Given the description of an element on the screen output the (x, y) to click on. 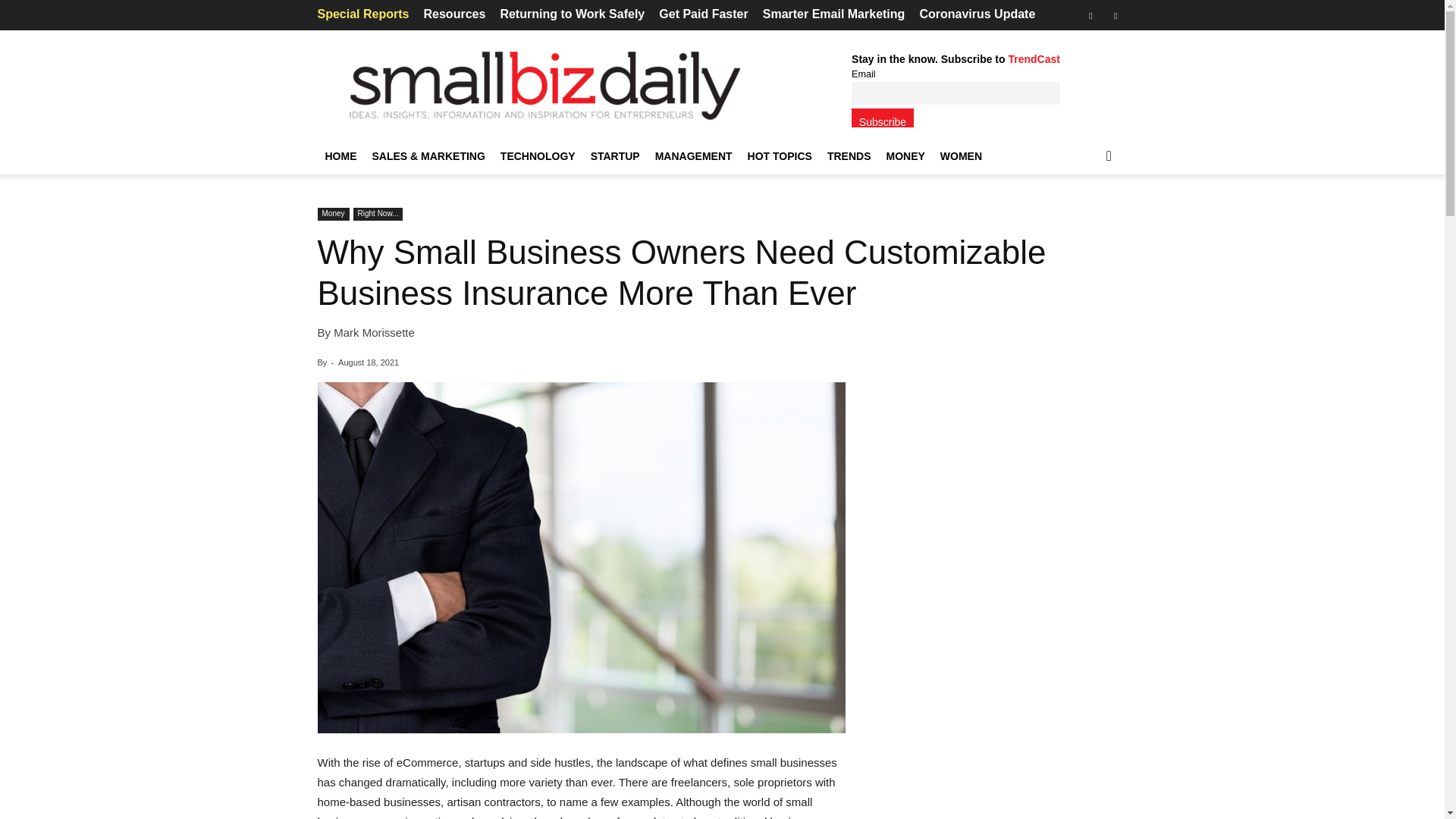
Subscribe (882, 117)
TECHNOLOGY (538, 156)
HOME (340, 156)
Facebook (1090, 14)
STARTUP (615, 156)
Returning to Work Safely (572, 13)
RSS (1114, 14)
Get Paid Faster (703, 13)
Special Reports (363, 13)
Resources (453, 13)
Smarter Email Marketing (833, 13)
TRENDS (849, 156)
HOT TOPICS (779, 156)
MONEY (904, 156)
WOMEN (961, 156)
